Given the description of an element on the screen output the (x, y) to click on. 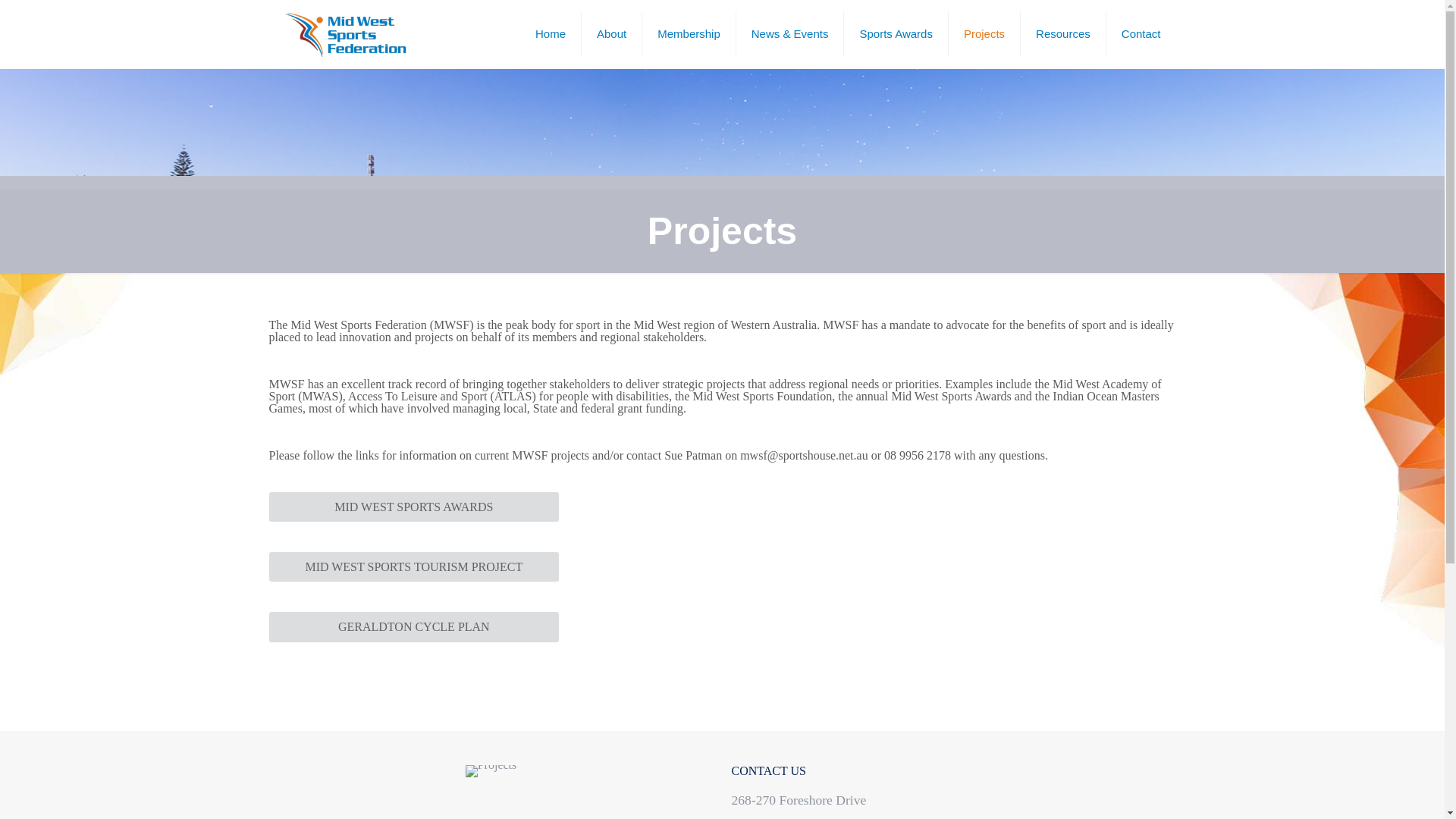
Mid West Sports Federation (344, 33)
Membership (689, 33)
Contact (1141, 33)
About (611, 33)
MID WEST SPORTS TOURISM PROJECT (413, 566)
GERALDTON CYCLE PLAN (413, 626)
Home (549, 33)
MID WEST SPORTS AWARDS (413, 506)
Resources (1063, 33)
Projects (984, 33)
Sports Awards (895, 33)
